Given the description of an element on the screen output the (x, y) to click on. 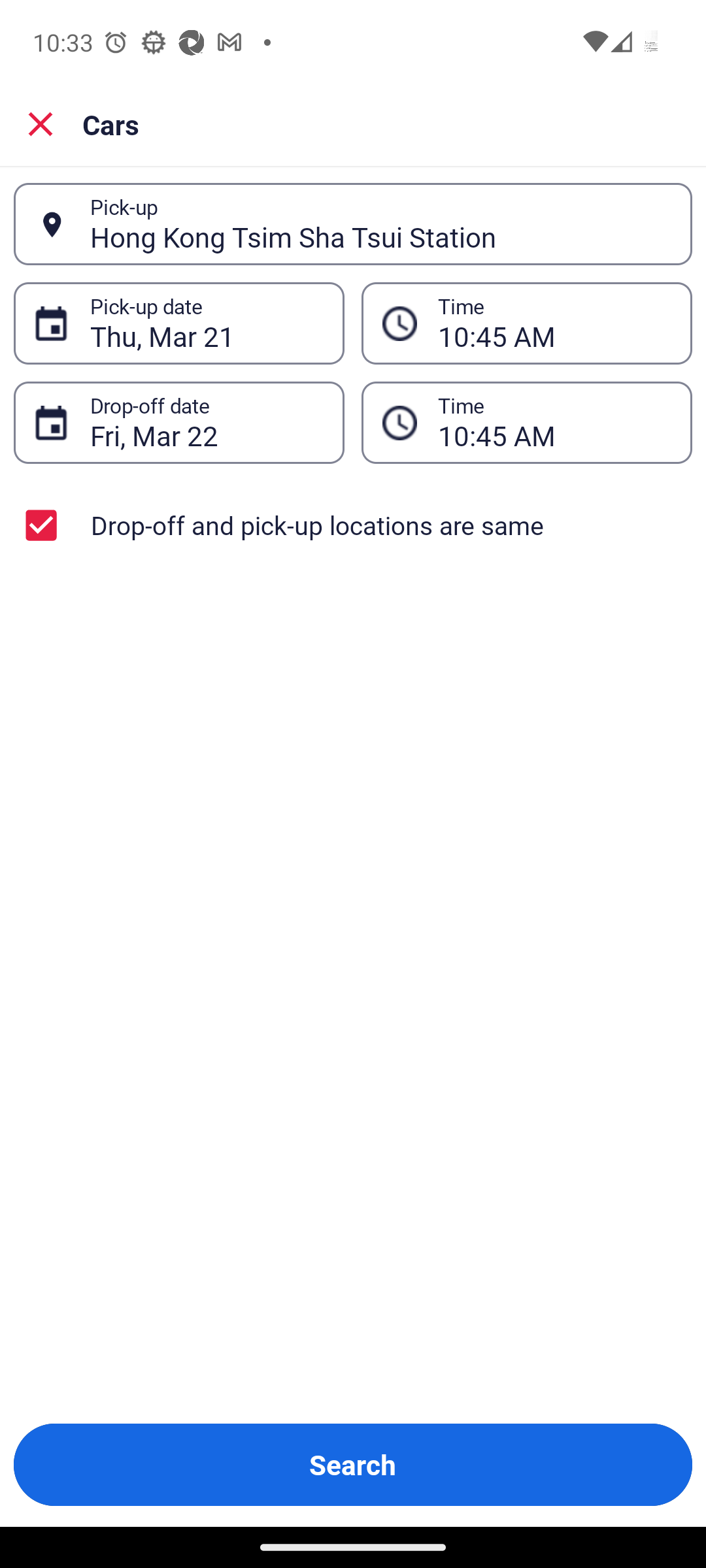
Close search screen (41, 124)
Hong Kong Tsim Sha Tsui Station (380, 223)
Thu, Mar 21 (206, 322)
10:45 AM (554, 322)
Fri, Mar 22 (206, 423)
10:45 AM (554, 423)
Drop-off and pick-up locations are same (352, 525)
Search Button Search (352, 1464)
